Given the description of an element on the screen output the (x, y) to click on. 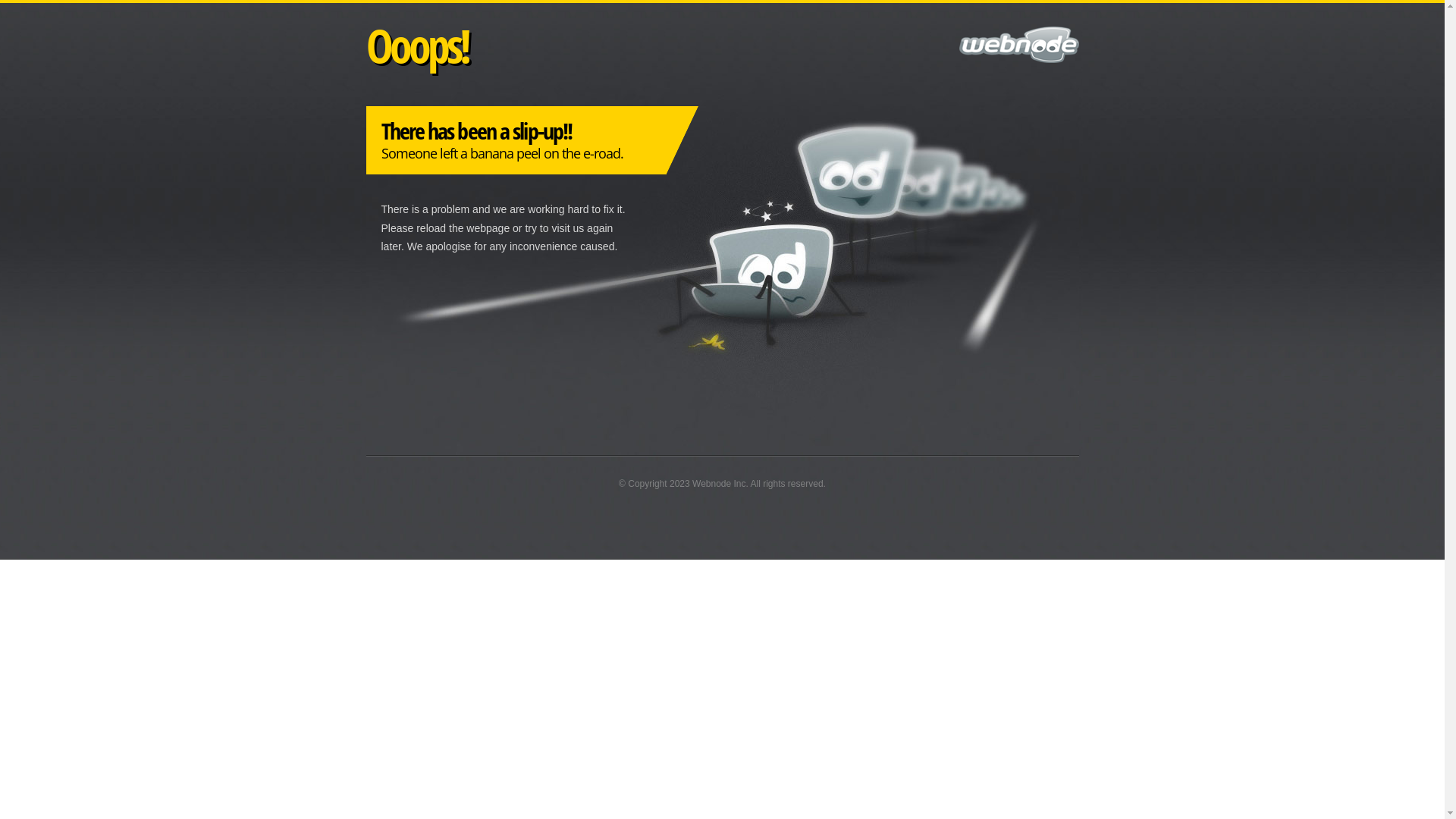
Webnode Inc Element type: text (719, 483)
